Given the description of an element on the screen output the (x, y) to click on. 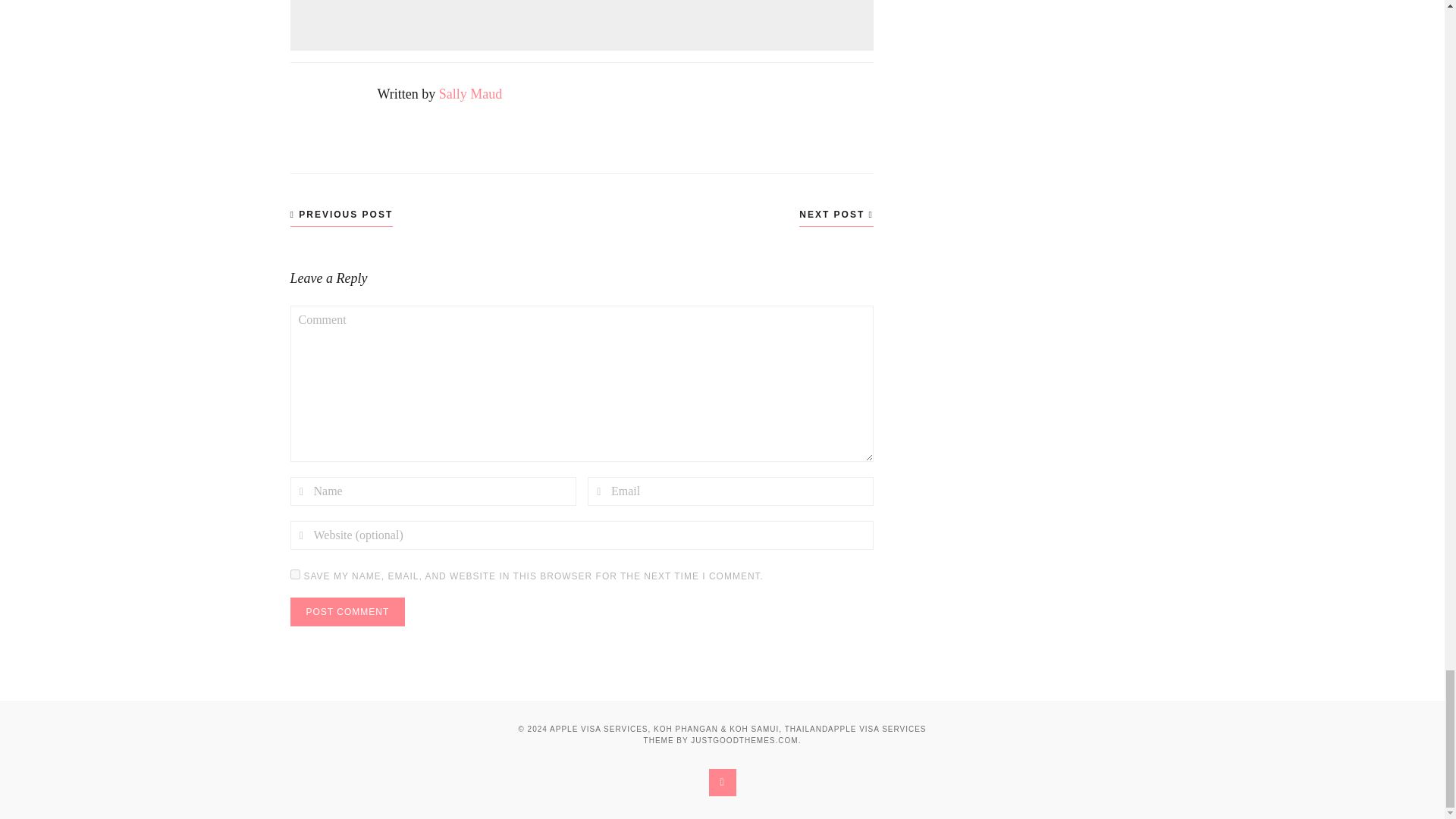
yes (294, 574)
Post Comment (346, 611)
